Given the description of an element on the screen output the (x, y) to click on. 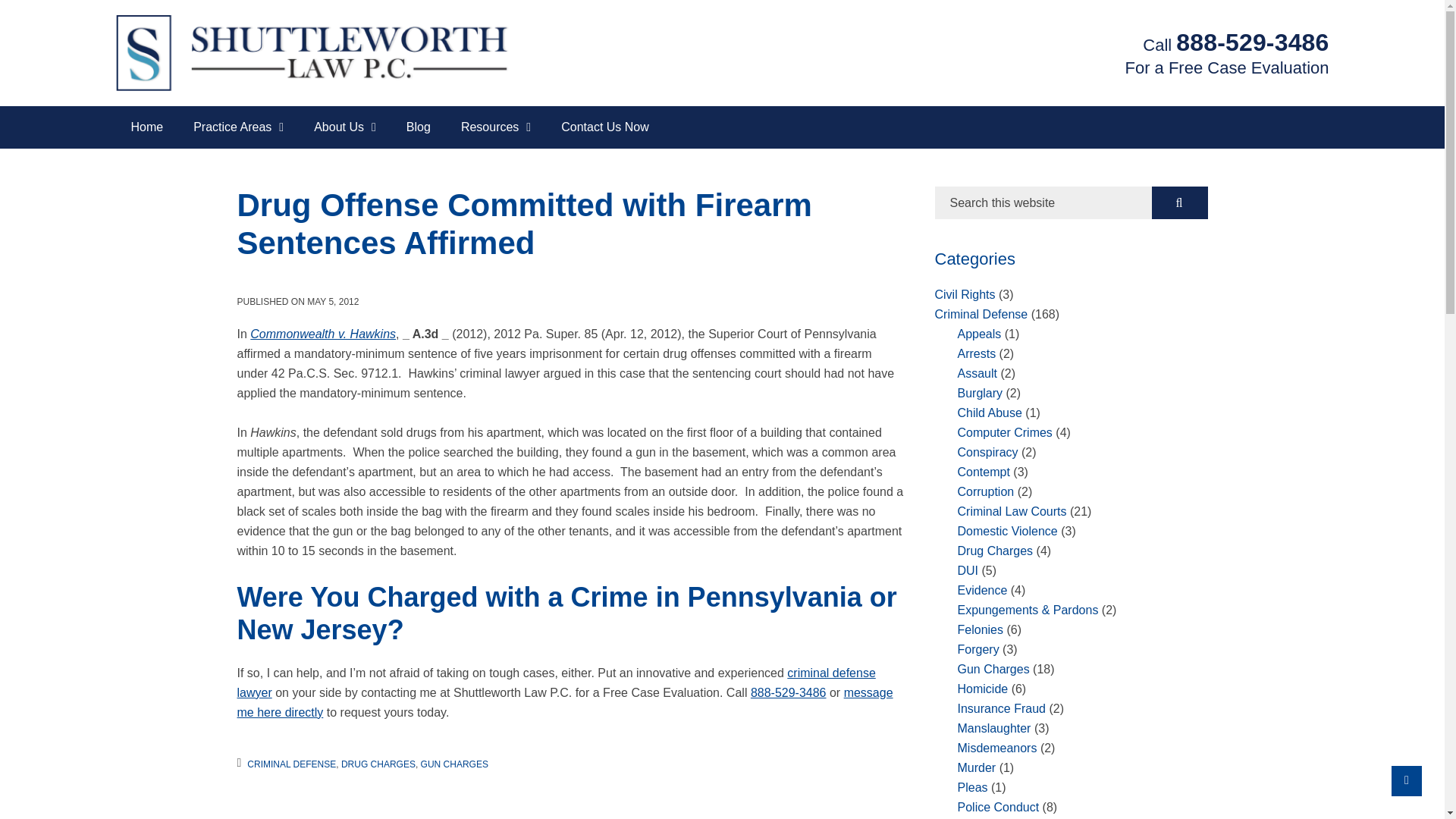
About Us (344, 127)
Home (146, 127)
888-529-3486 (1251, 42)
Practice Areas (237, 127)
